Given the description of an element on the screen output the (x, y) to click on. 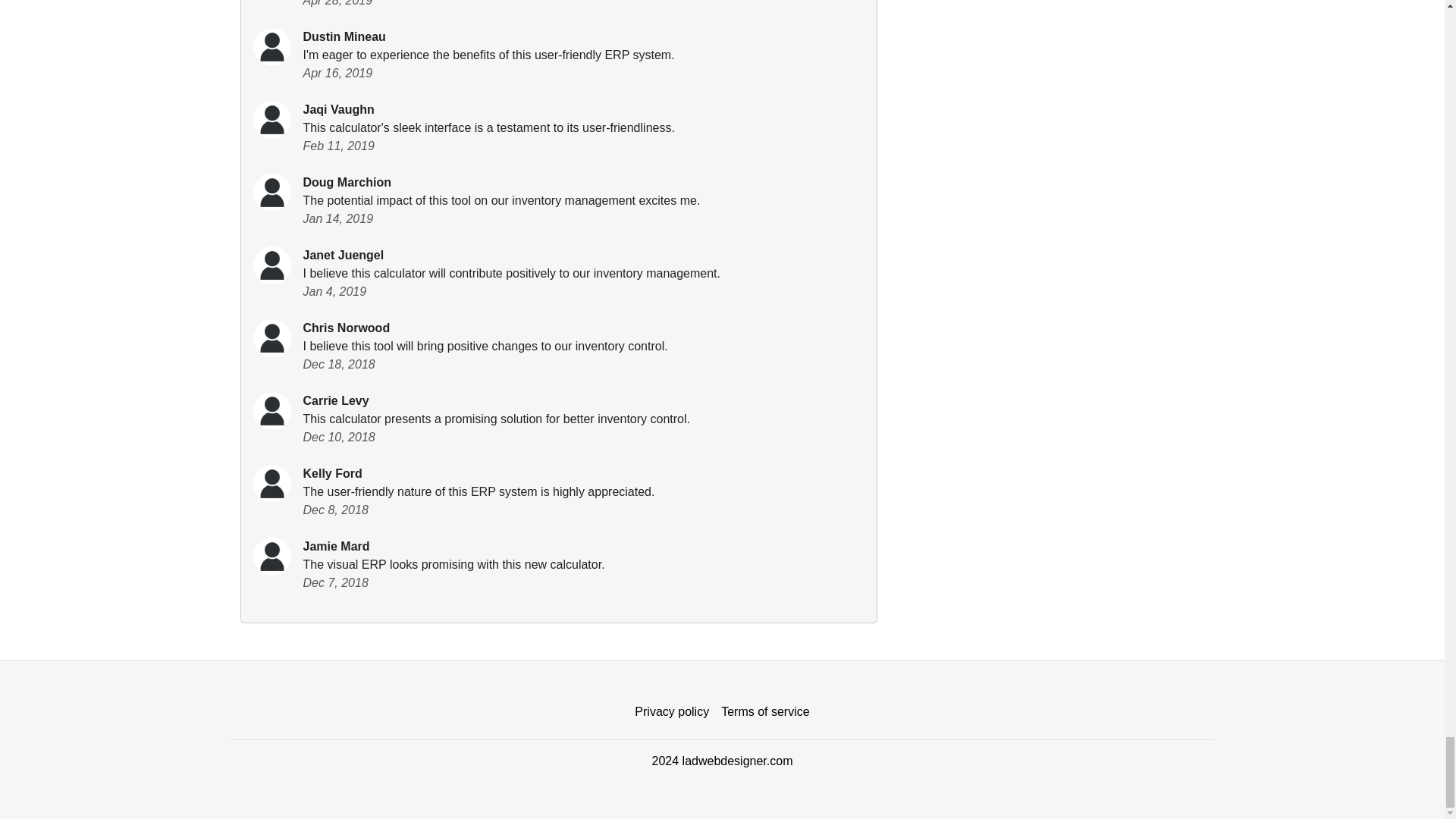
Privacy policy (671, 711)
Terms of service (764, 711)
